Given the description of an element on the screen output the (x, y) to click on. 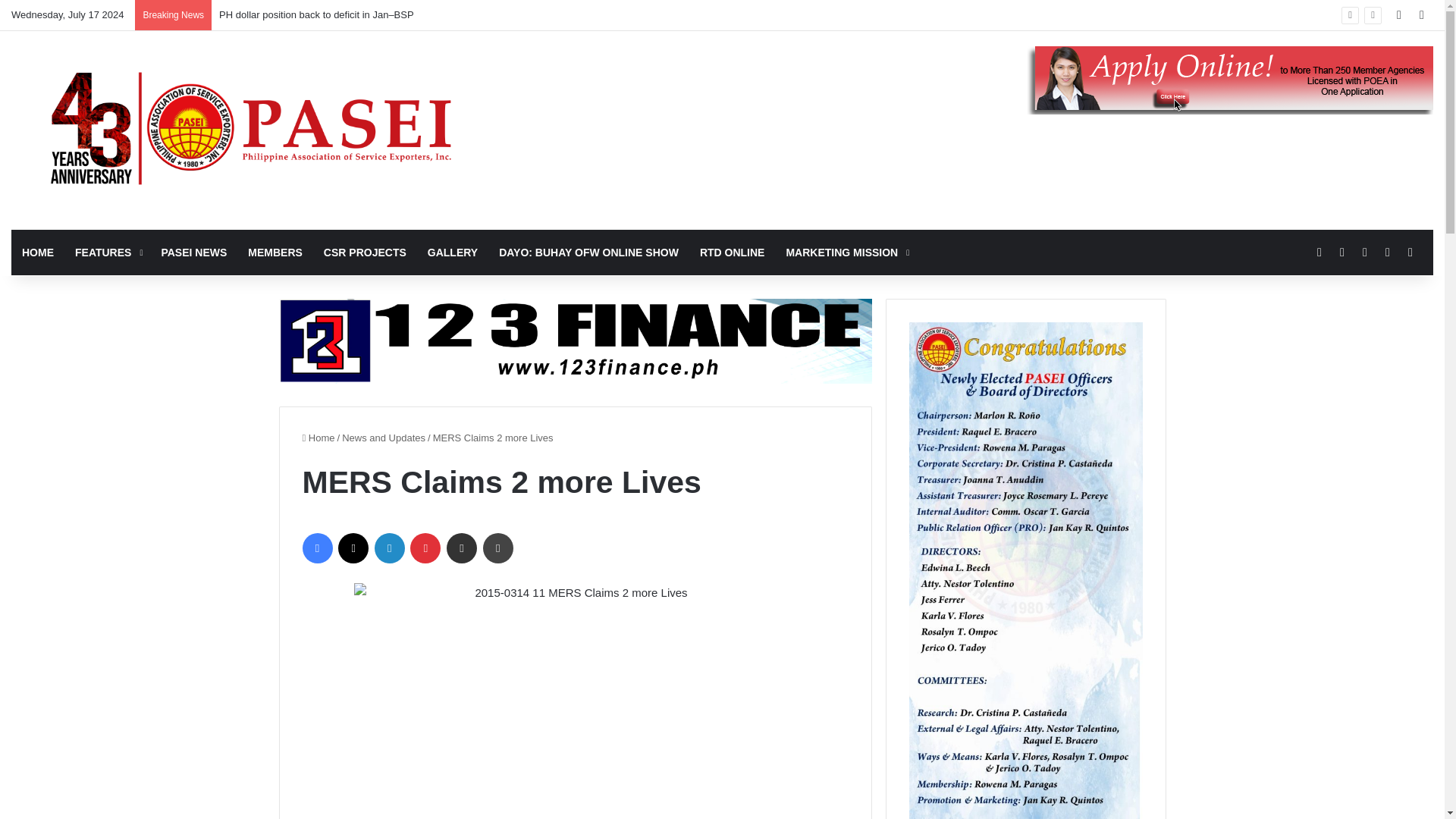
Facebook (316, 548)
X (352, 548)
Share via Email (461, 548)
MEMBERS (275, 252)
X (352, 548)
PASEI NEWS (193, 252)
DAYO: BUHAY OFW ONLINE SHOW (587, 252)
HOME (37, 252)
Facebook (316, 548)
MARKETING MISSION (845, 252)
News and Updates (383, 437)
GALLERY (451, 252)
Pinterest (425, 548)
CSR PROJECTS (364, 252)
RTD ONLINE (732, 252)
